Given the description of an element on the screen output the (x, y) to click on. 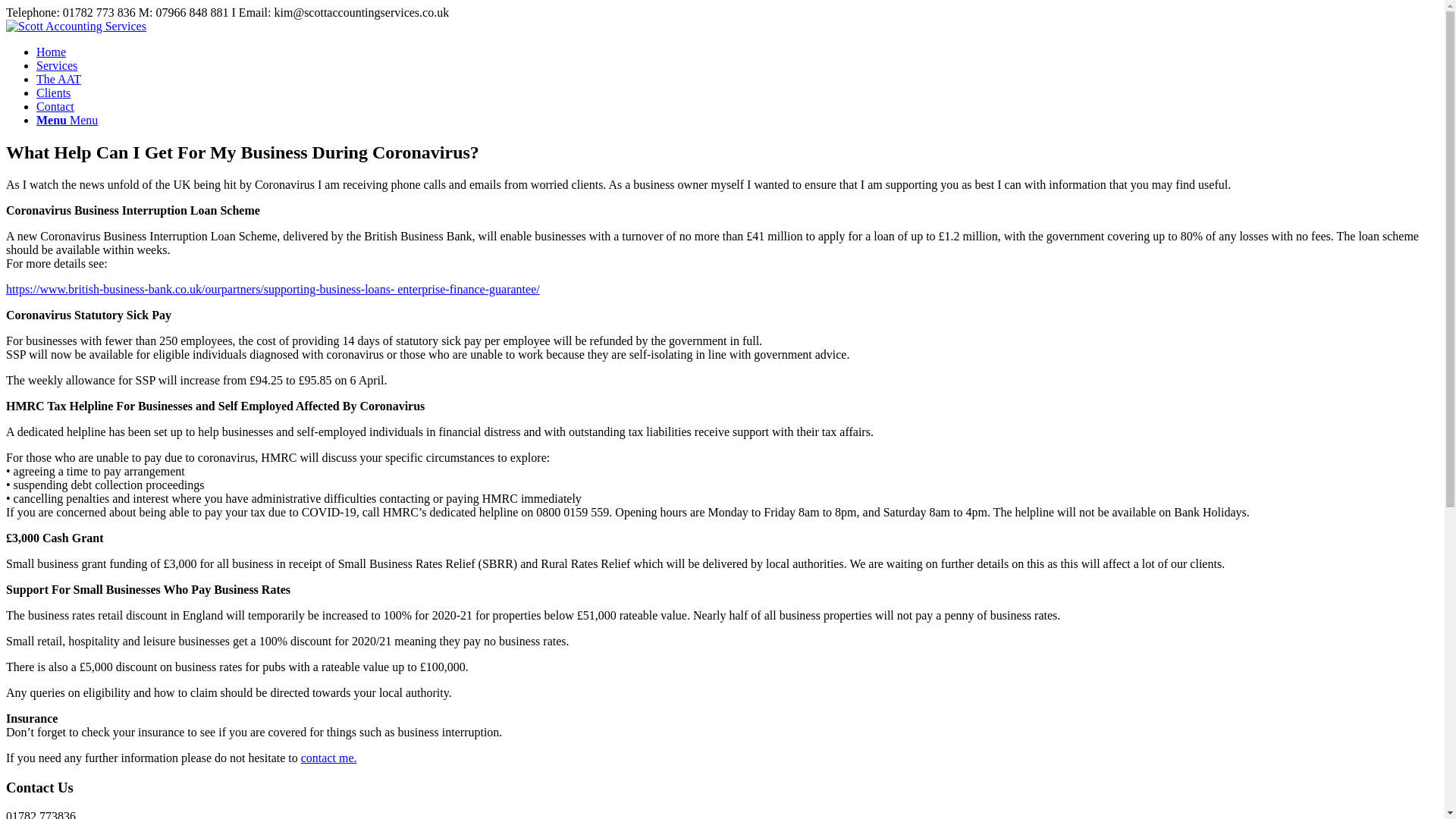
Services (56, 65)
Logo (76, 26)
Home (50, 51)
The AAT (58, 78)
contact me. (328, 757)
Contact (55, 106)
Clients (52, 92)
Logo (76, 25)
Menu Menu (66, 119)
